Given the description of an element on the screen output the (x, y) to click on. 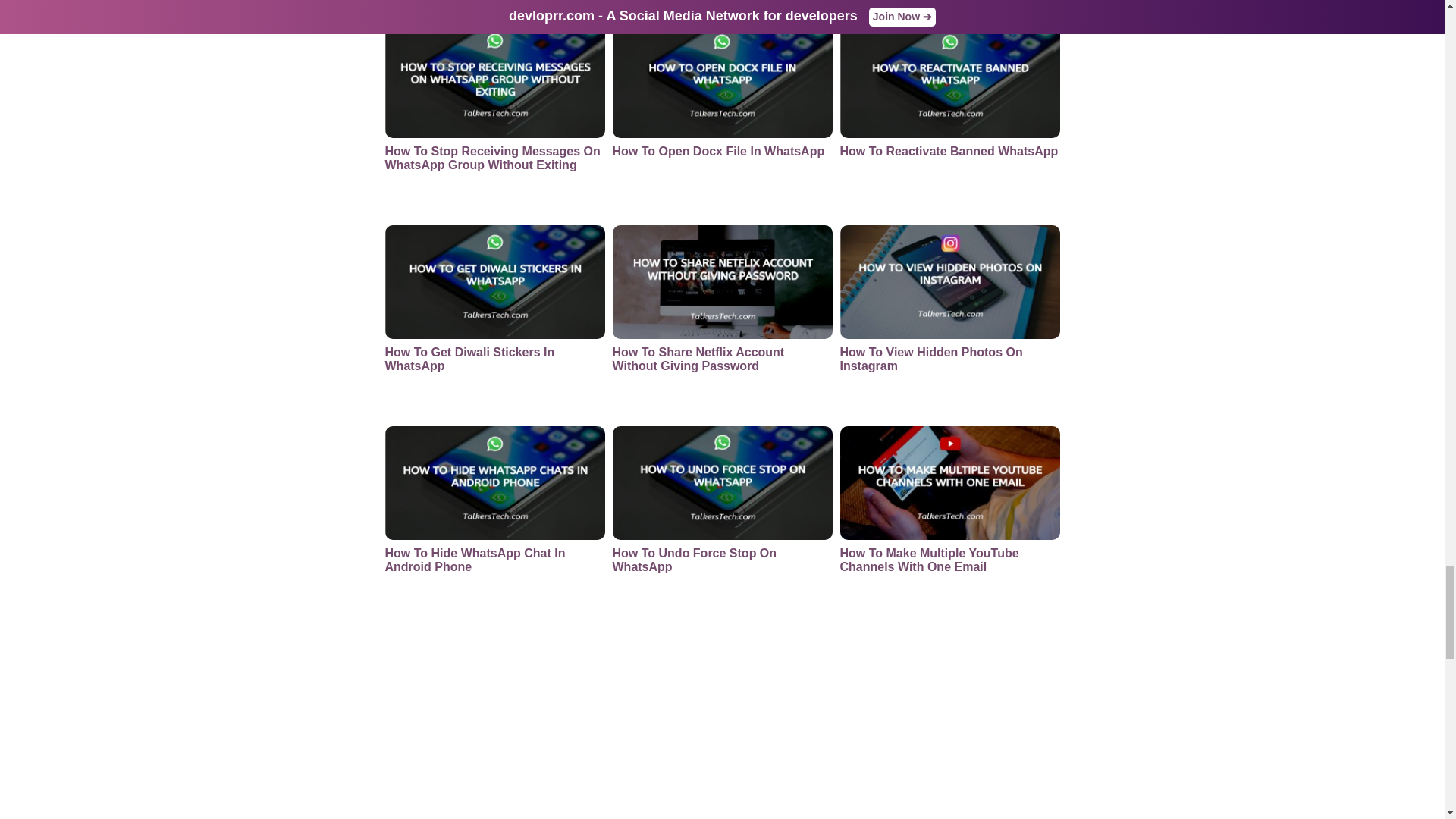
How To Reactivate Banned WhatsApp (949, 118)
How To Send Scheduled Messages In WhatsApp (949, 6)
How To Get Diwali Stickers In WhatsApp (495, 319)
How To Open Docx File In WhatsApp (722, 118)
How To Make Multiple YouTube Channels With One Email (949, 520)
How To Get Rid Of Large Gaps In Text In MS Word (495, 6)
How To Share Netflix Account Without Giving Password (722, 319)
How To Hide WhatsApp Chat In Android Phone (495, 520)
How To Undo Force Stop On WhatsApp (722, 520)
How To View Hidden Photos On Instagram (949, 319)
